Given the description of an element on the screen output the (x, y) to click on. 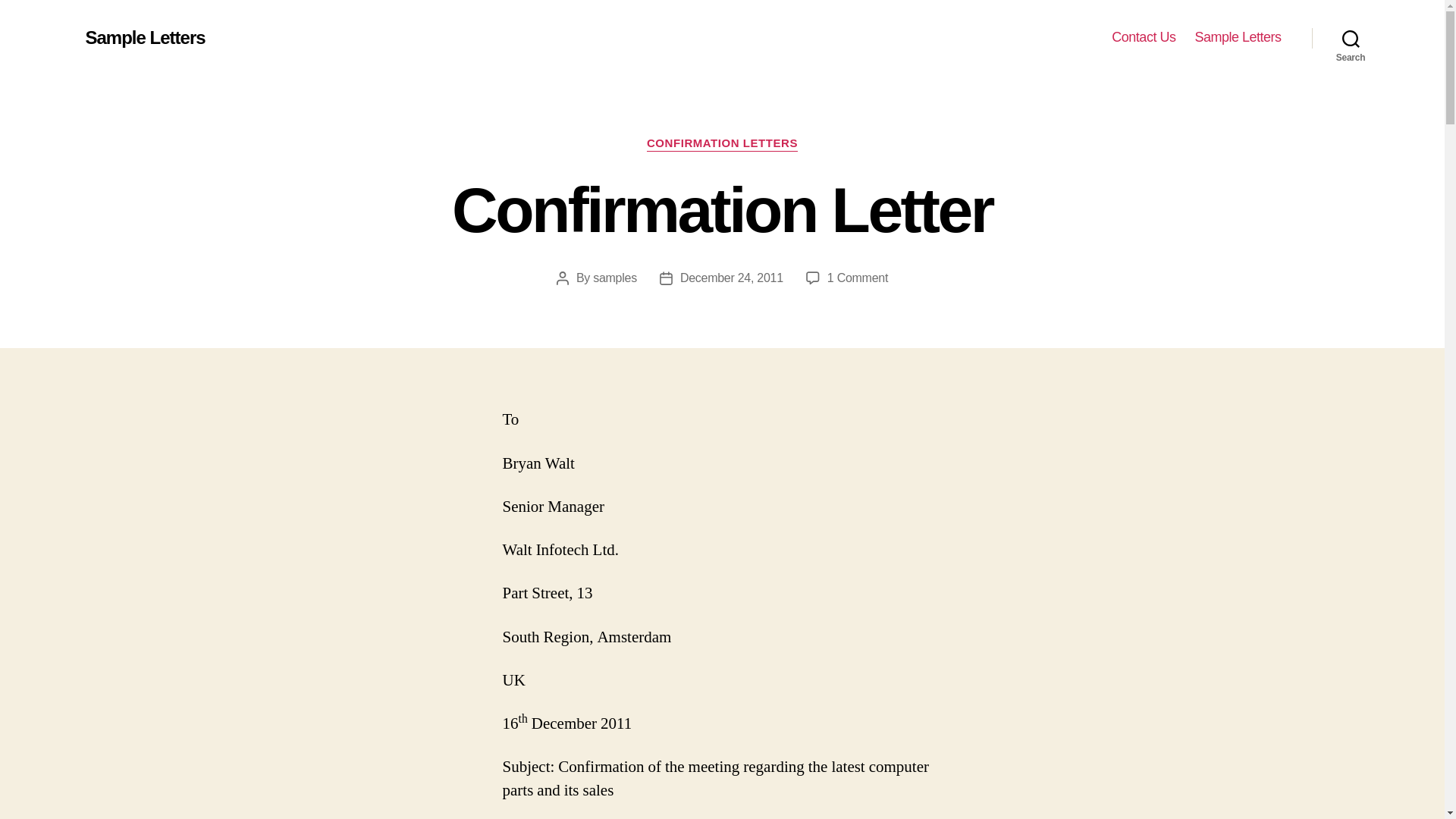
CONFIRMATION LETTERS (721, 143)
Sample Letters (857, 277)
December 24, 2011 (144, 37)
samples (731, 277)
Contact Us (614, 277)
Search (1143, 37)
Sample Letters (1350, 37)
